Given the description of an element on the screen output the (x, y) to click on. 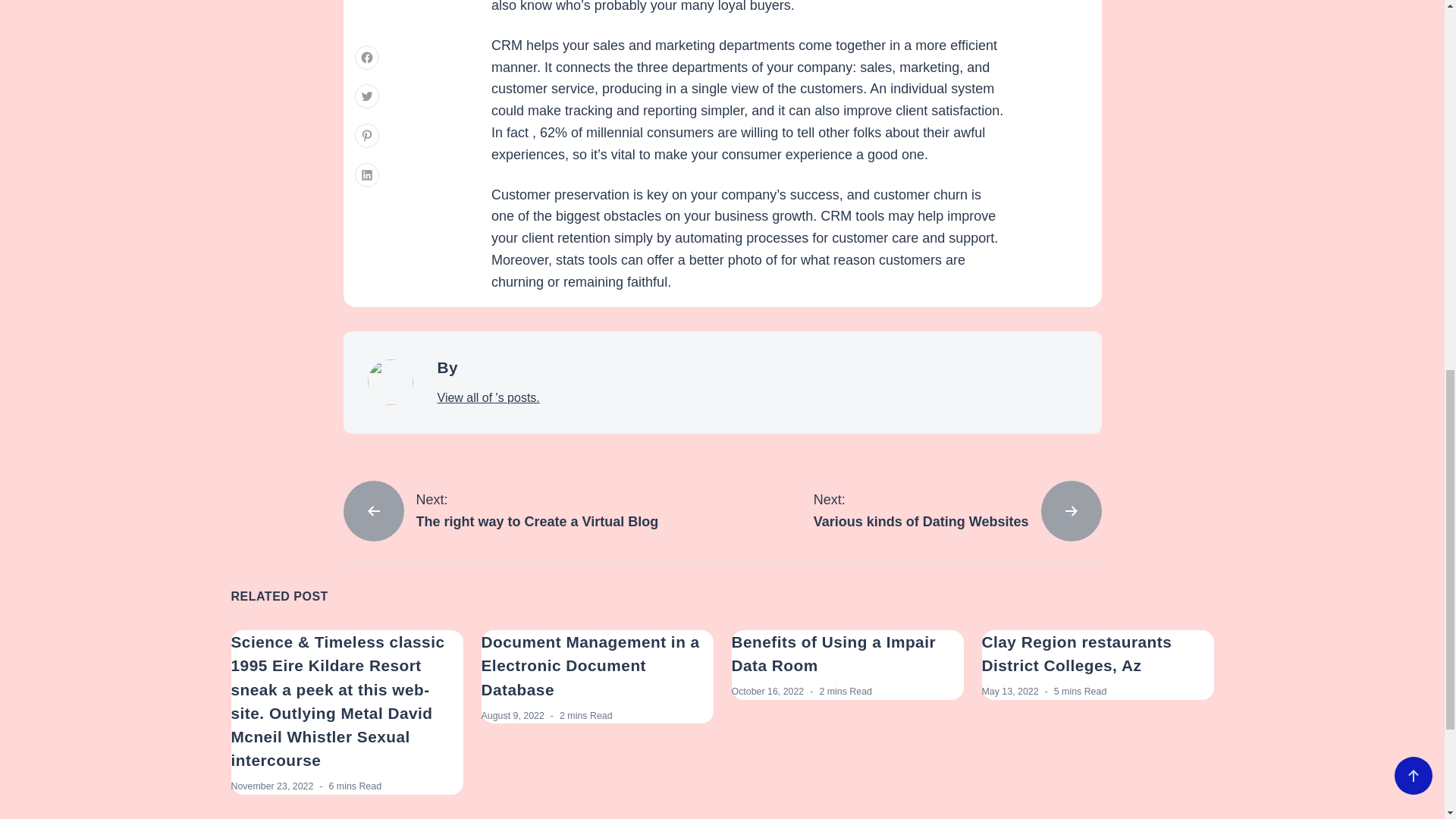
October 16, 2022 (766, 691)
Document Management in a Electronic Document Database (957, 510)
View all of 's posts. (589, 665)
August 9, 2022 (487, 397)
Clay Region restaurants District Colleges, Az (511, 715)
November 23, 2022 (1076, 653)
Benefits of Using a Impair Data Room (271, 786)
